Given the description of an element on the screen output the (x, y) to click on. 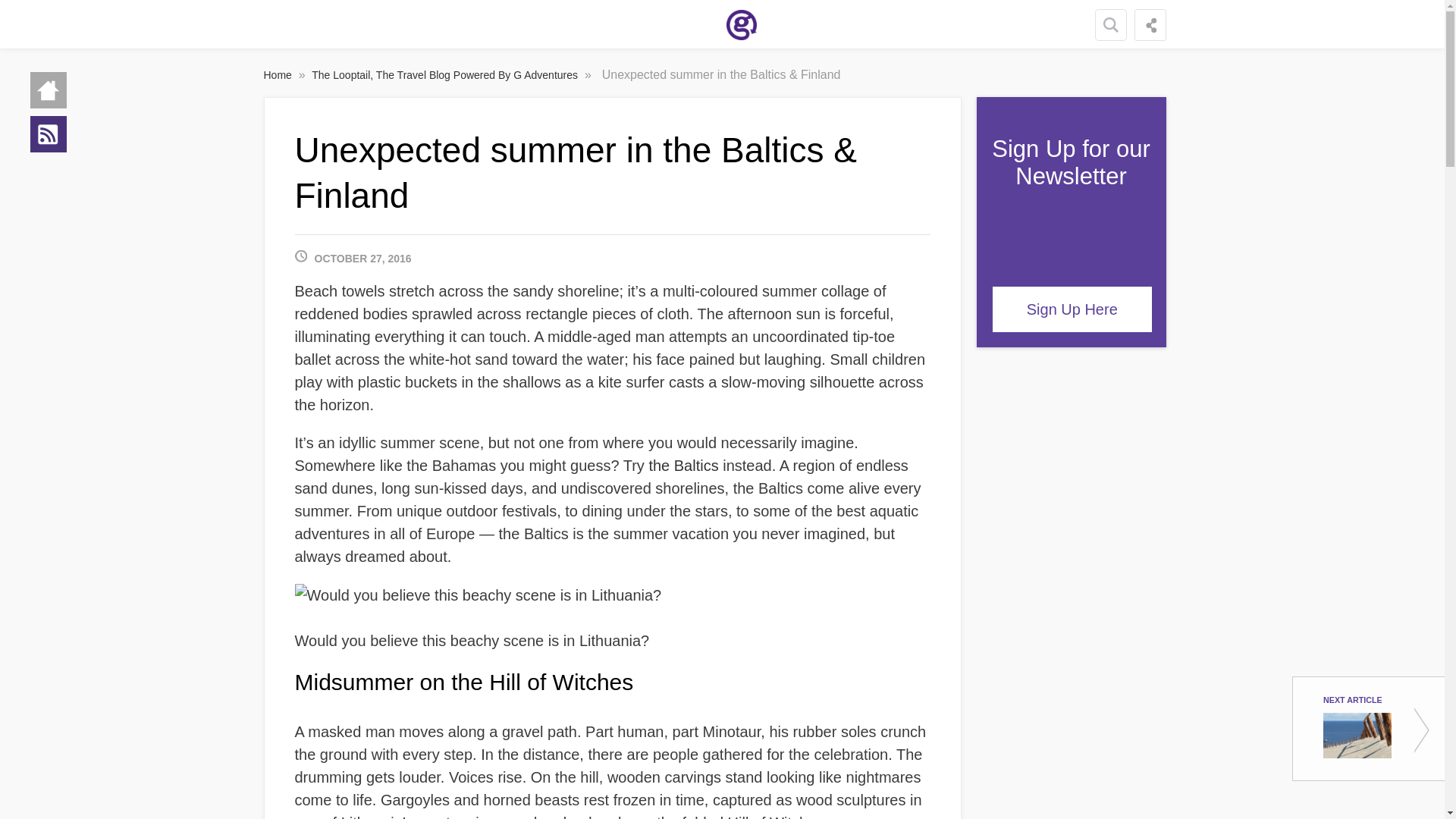
Home (48, 90)
Home (279, 74)
Blogs (48, 134)
Sign Up Here (1071, 309)
The Looptail, The Travel Blog Powered By G Adventures (445, 74)
the Baltics (682, 465)
